Given the description of an element on the screen output the (x, y) to click on. 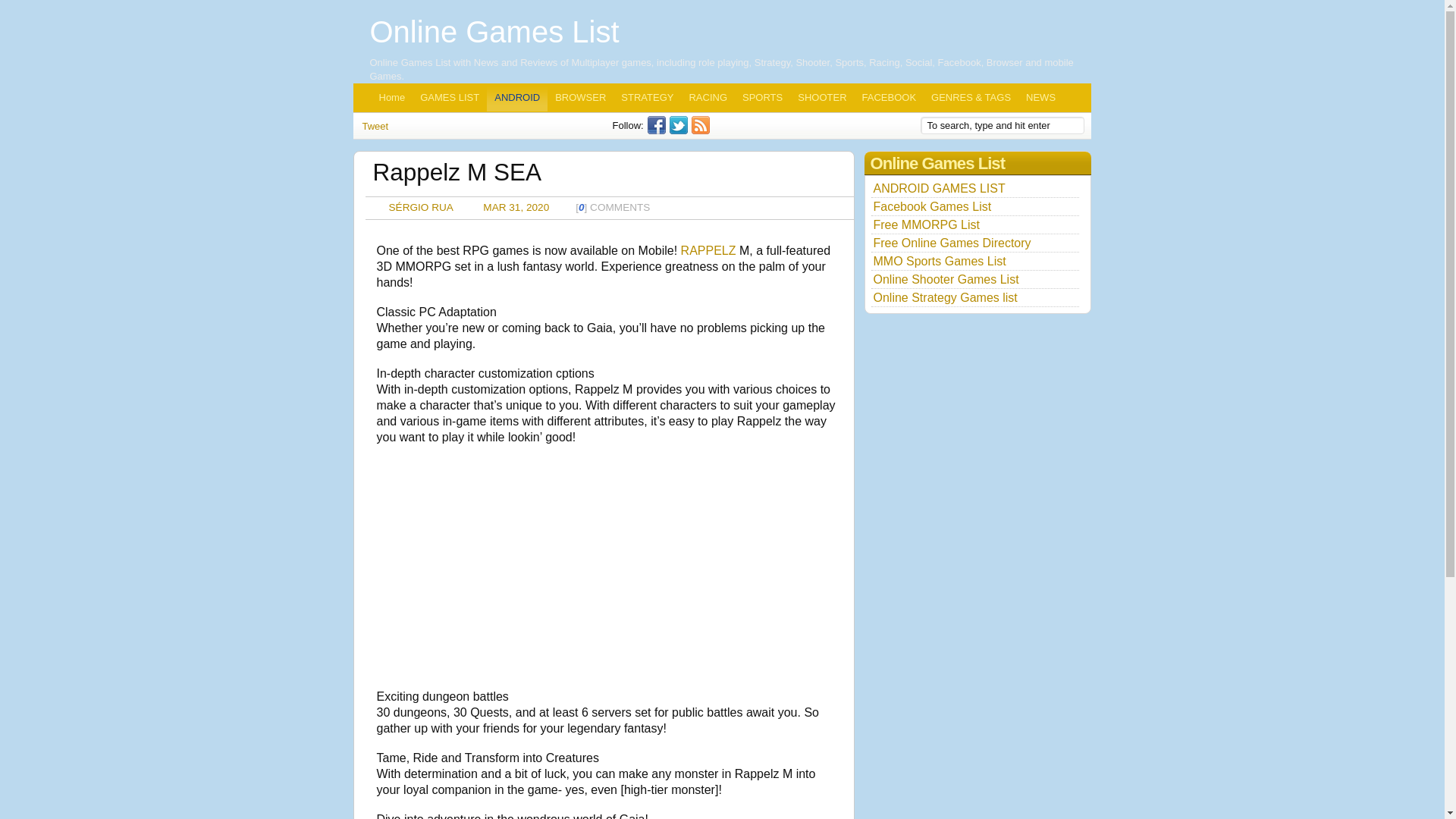
ANDROID (516, 97)
Tweet (375, 125)
NEWS (1039, 97)
Online Strategy Games list (945, 297)
Online Games List (494, 31)
MMO Sports Games List (939, 260)
MAR 31, 2020 (515, 206)
To search, type and hit enter (1002, 125)
1:12 pm (515, 206)
FACEBOOK (889, 97)
STRATEGY (646, 97)
Free MMORPG List (926, 224)
RACING (708, 97)
To search, type and hit enter (1002, 125)
Free Online Games Directory (951, 242)
